Given the description of an element on the screen output the (x, y) to click on. 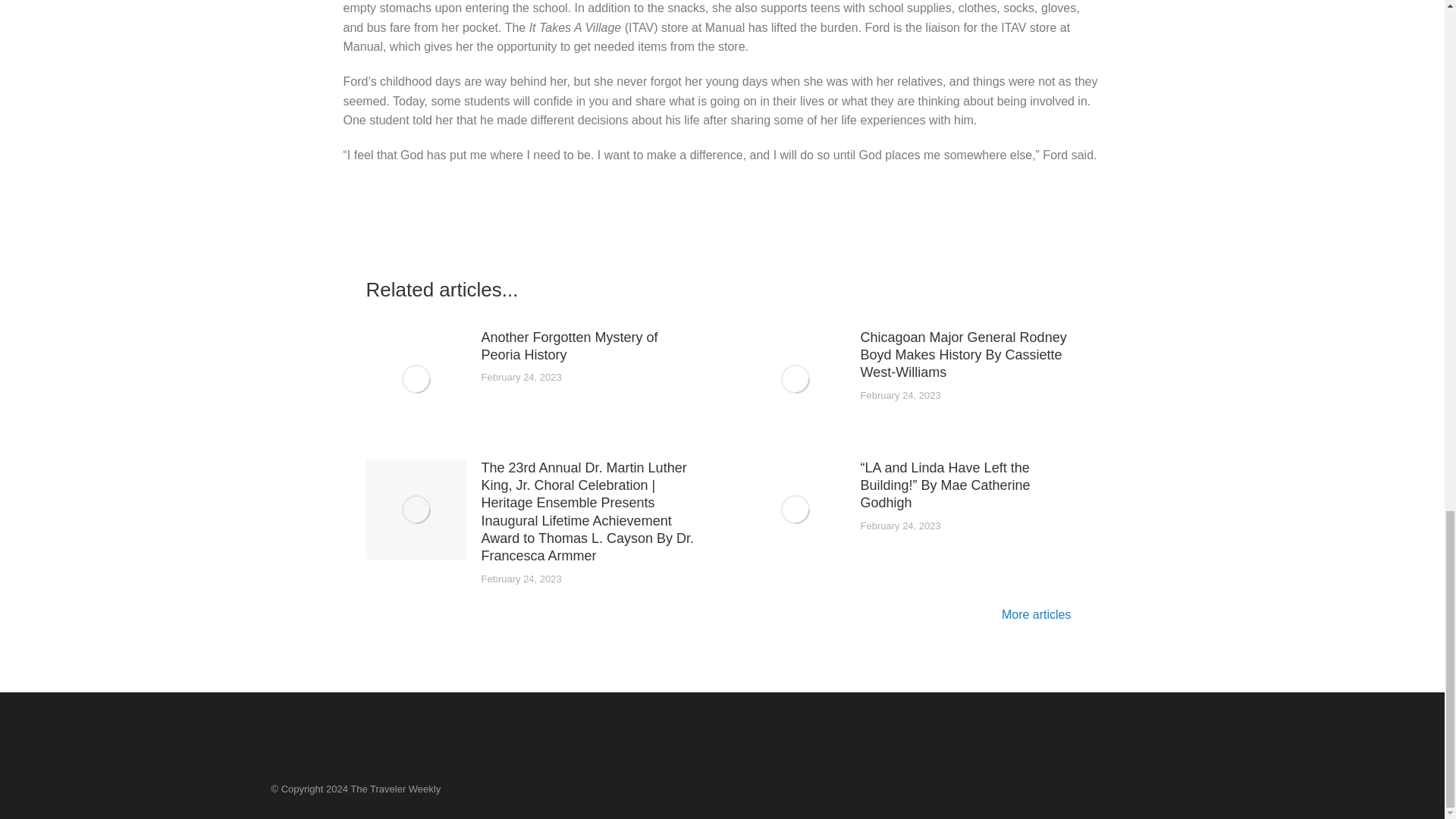
11:11 pm (900, 526)
February 24, 2023 (520, 377)
Another Forgotten Mystery of Peoria History (589, 346)
Another Forgotten Mystery of Peoria History (589, 346)
February 24, 2023 (520, 579)
11:21 pm (520, 377)
11:12 pm (520, 579)
More articles (1039, 616)
February 24, 2023 (900, 395)
11:18 pm (900, 395)
February 24, 2023 (900, 526)
